Given the description of an element on the screen output the (x, y) to click on. 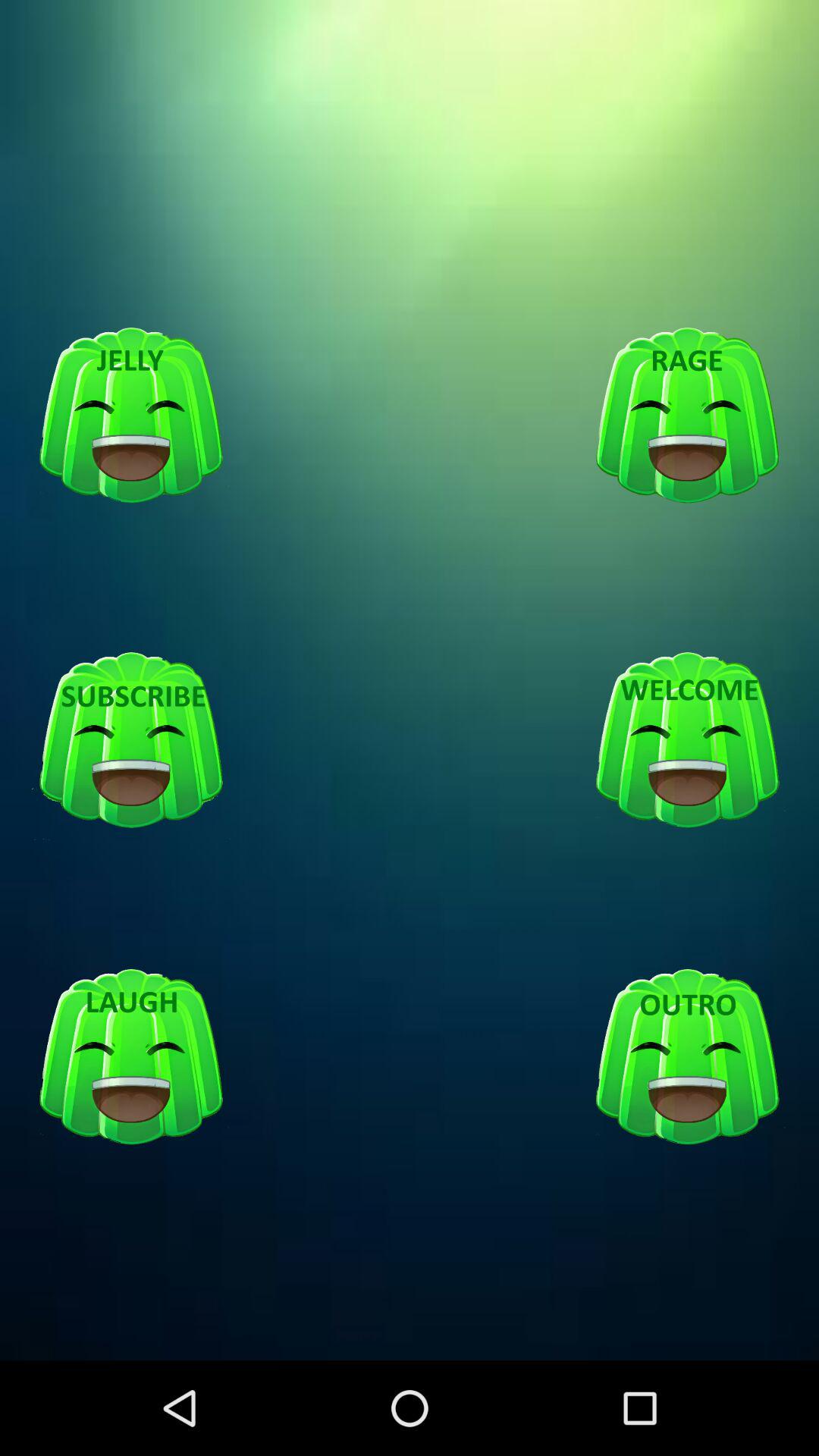
home page (687, 740)
